Given the description of an element on the screen output the (x, y) to click on. 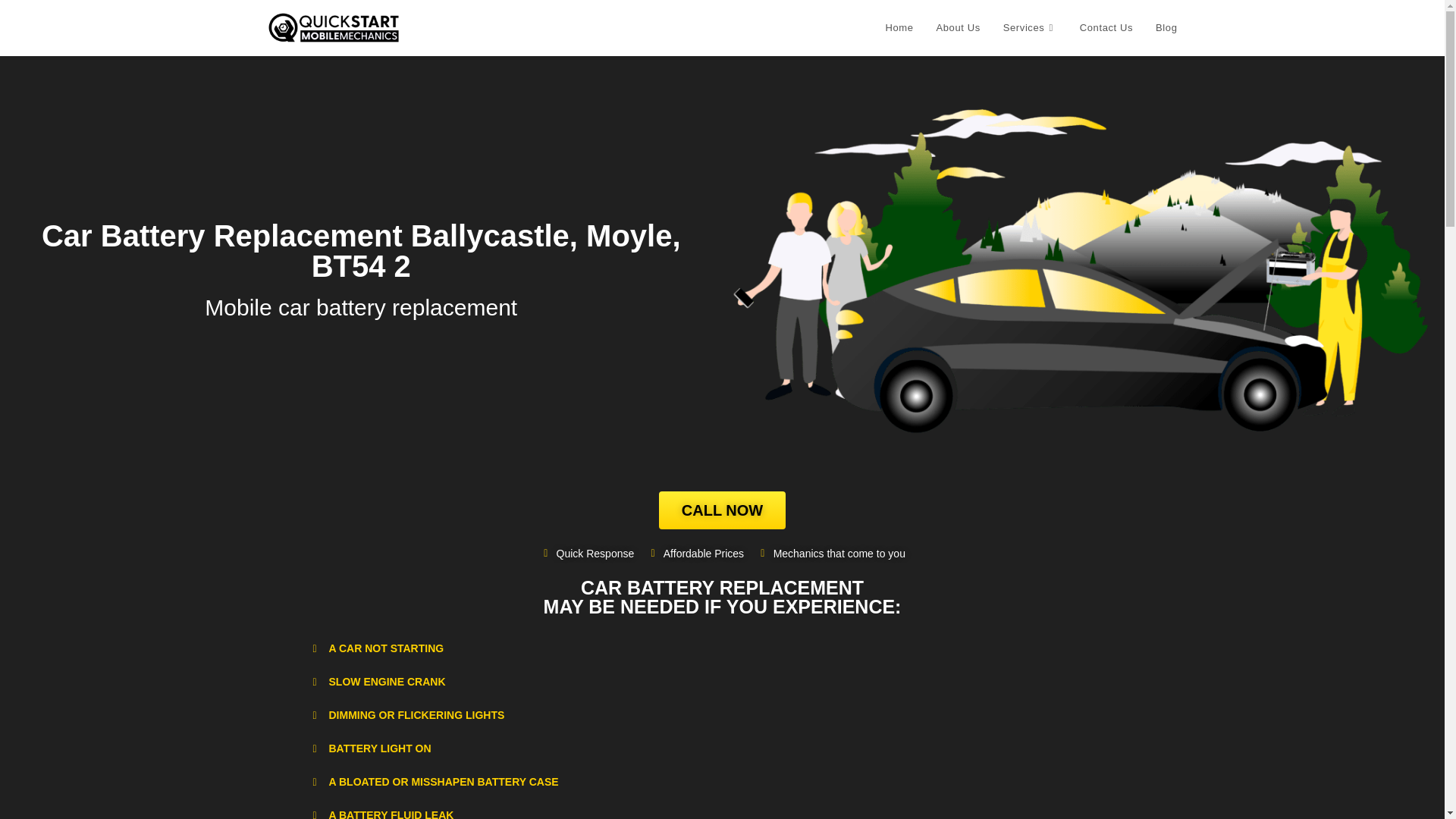
Services (1029, 28)
BATTERY LIGHT ON (379, 748)
About Us (957, 28)
Blog (1166, 28)
CALL NOW (722, 510)
A BATTERY FLUID LEAK (391, 814)
Contact Us (1106, 28)
DIMMING OR FLICKERING LIGHTS (417, 715)
A CAR NOT STARTING (386, 648)
Home (898, 28)
A BLOATED OR MISSHAPEN BATTERY CASE (444, 781)
SLOW ENGINE CRANK (387, 681)
